Given the description of an element on the screen output the (x, y) to click on. 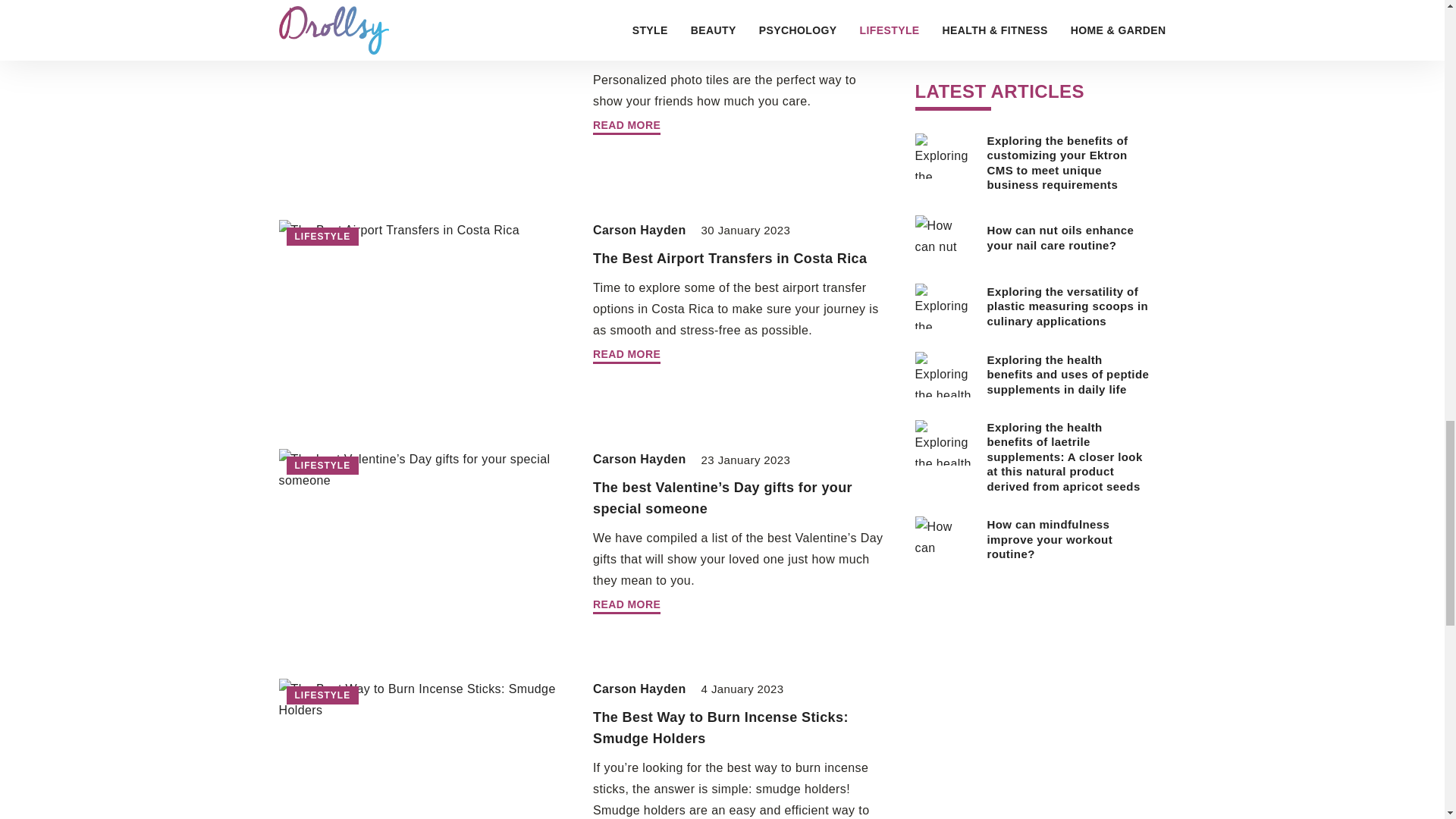
The Best Airport Transfers in Costa Rica (729, 258)
READ MORE (626, 355)
READ MORE (626, 127)
The Perfect Gift for Your Friend: Personalized Photo Tiles (701, 40)
